Given the description of an element on the screen output the (x, y) to click on. 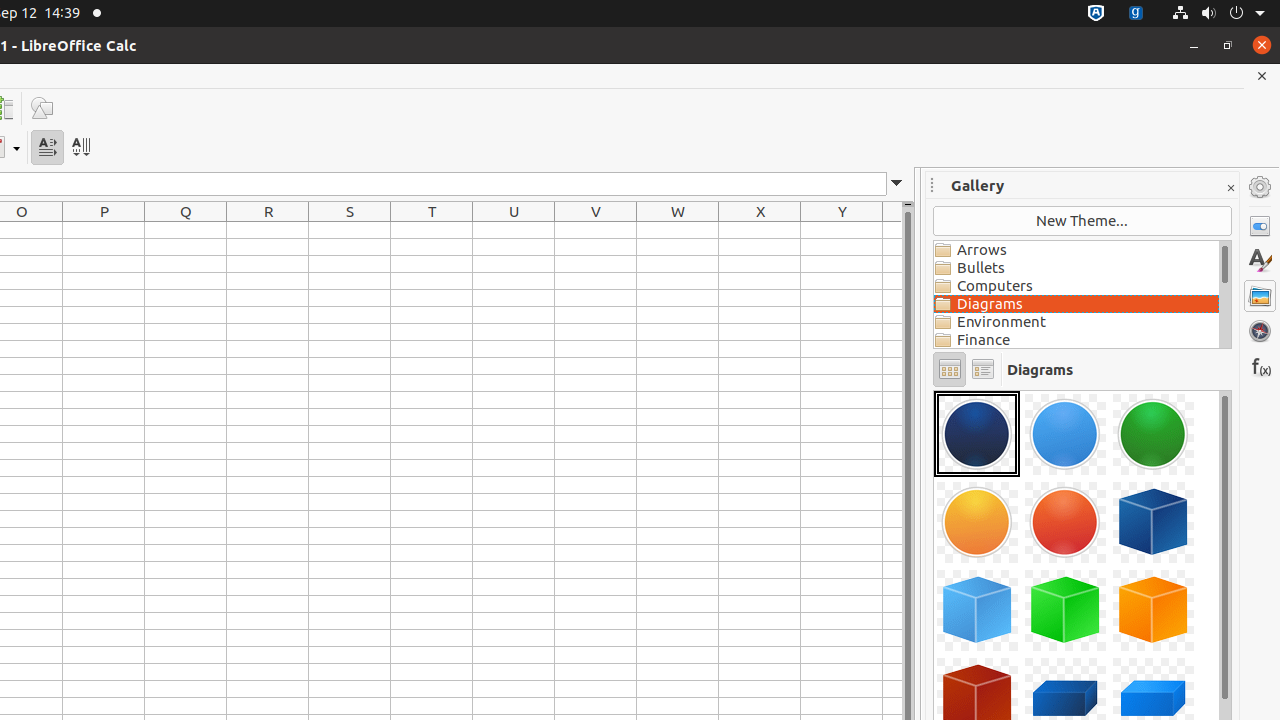
Component-Sphere05-Orange Element type: list-item (934, 390)
Cycle01-Transparent Element type: list-item (934, 390)
:1.72/StatusNotifierItem Element type: menu (1096, 13)
Component-Circle05-Transparent-Red Element type: list-item (1065, 522)
New Theme Element type: push-button (1082, 221)
